Given the description of an element on the screen output the (x, y) to click on. 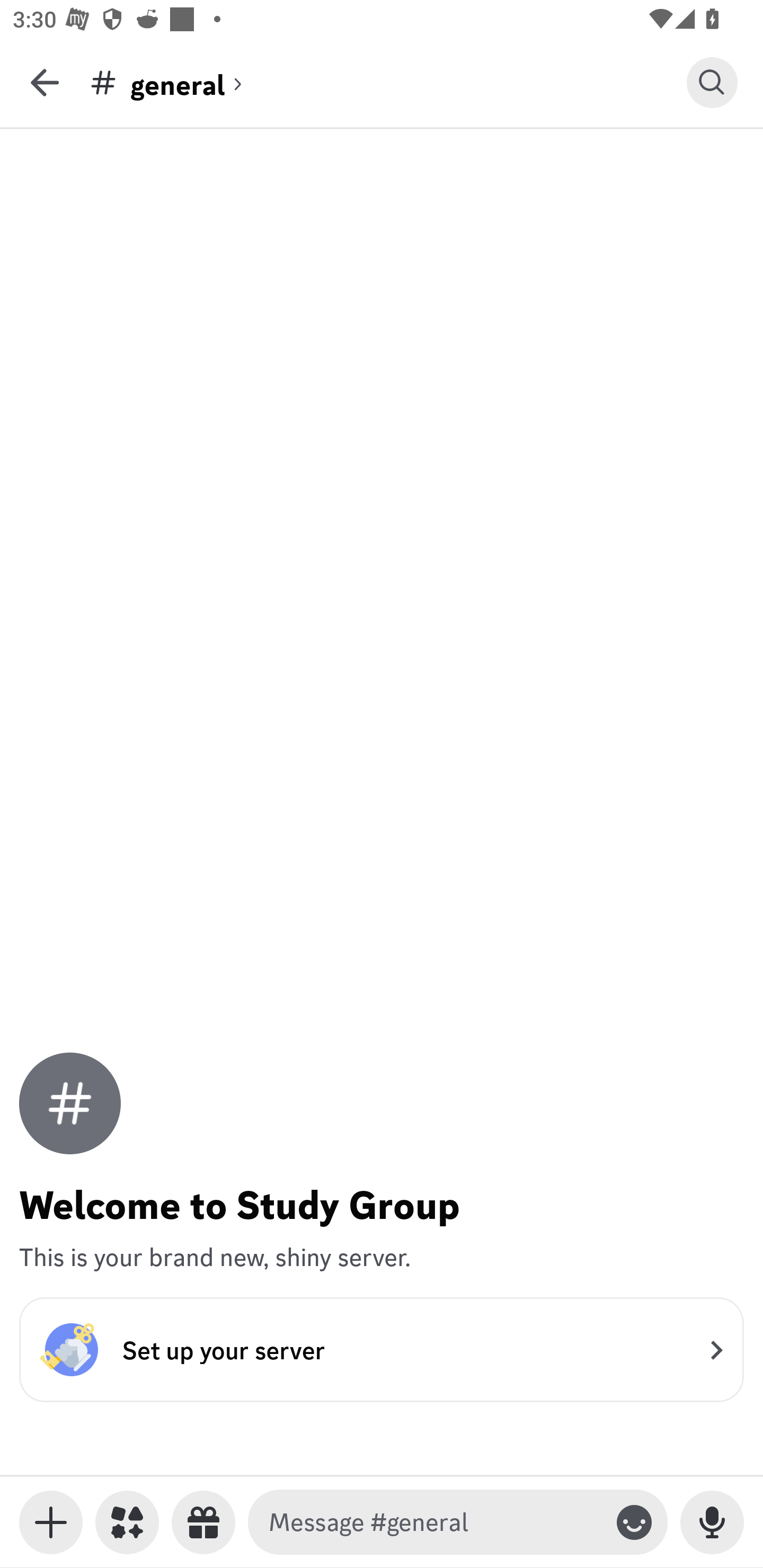
general (channel) general general (channel) (387, 82)
Back (44, 82)
Search (711, 82)
Set up your server (381, 1348)
Toggle media keyboard (50, 1522)
Apps (126, 1522)
Send a gift (203, 1522)
Record Voice Message (711, 1522)
Message #general (433, 1522)
Toggle emoji keyboard (634, 1522)
